Given the description of an element on the screen output the (x, y) to click on. 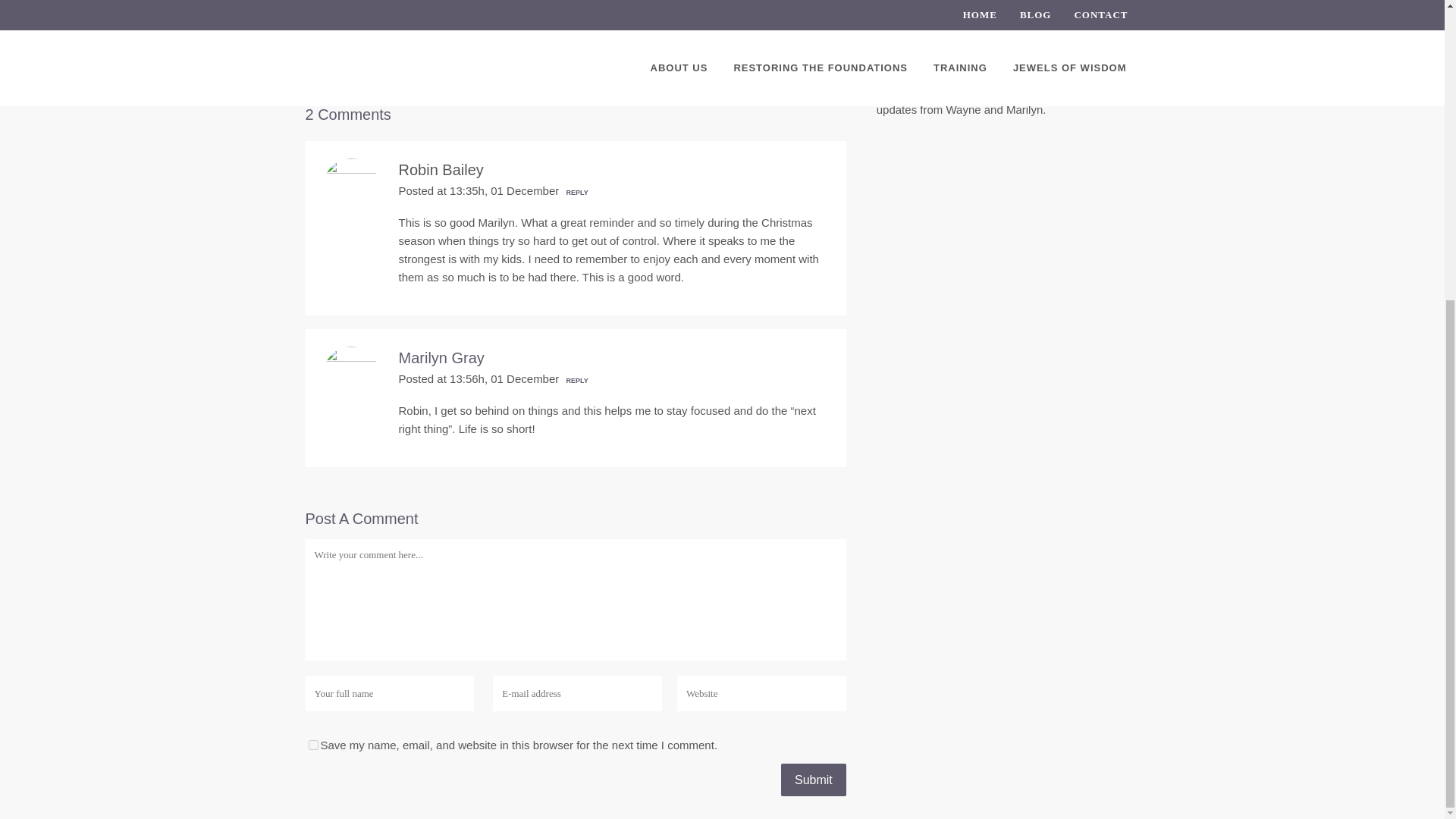
yes (312, 745)
REPLY (575, 380)
Submit (812, 779)
Submit (812, 779)
REPLY (575, 192)
Marilyn Gray (441, 357)
